Given the description of an element on the screen output the (x, y) to click on. 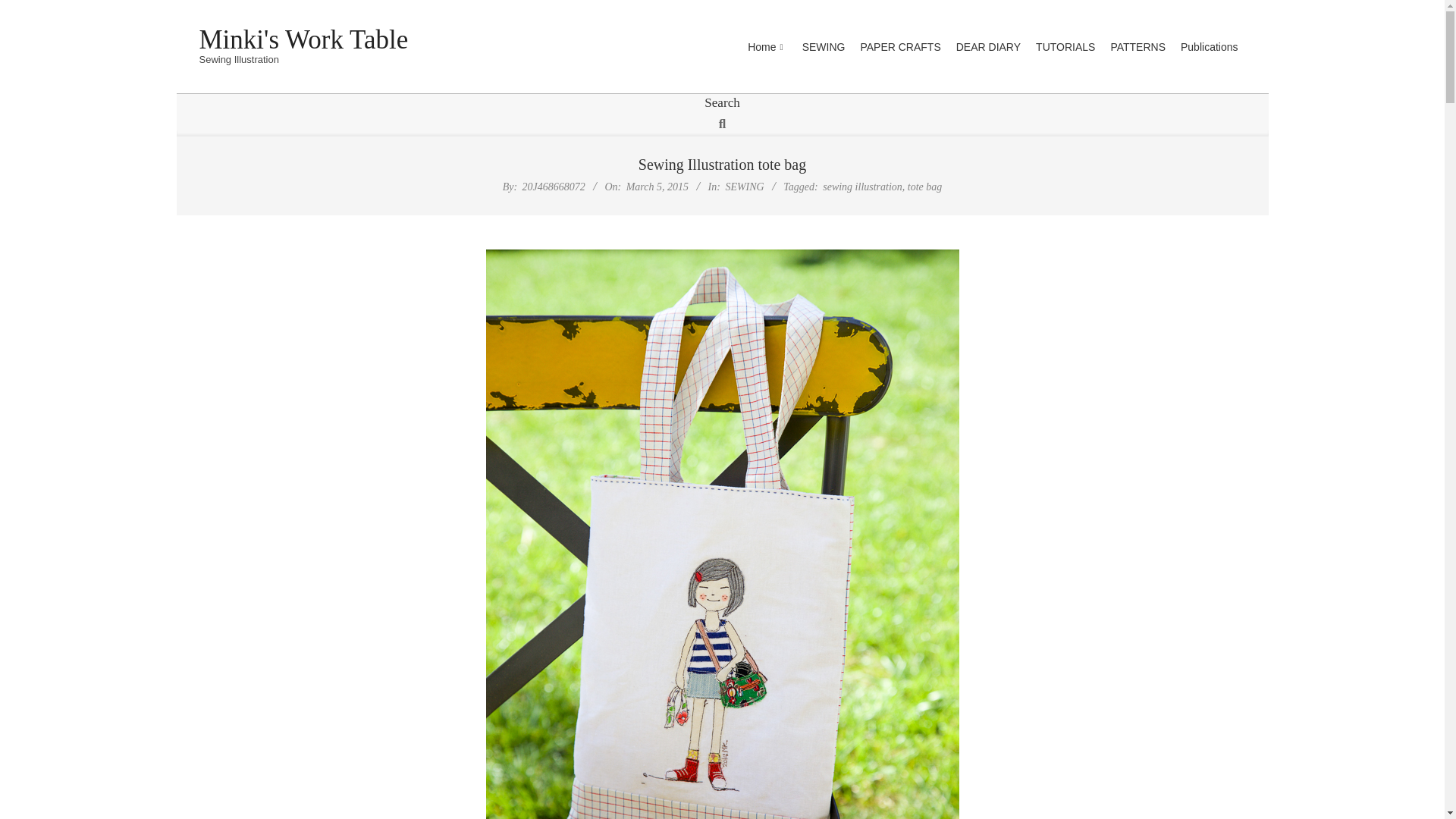
tote bag (924, 186)
TUTORIALS (1064, 47)
SEWING (743, 186)
DEAR DIARY (988, 47)
SEWING (823, 47)
PATTERNS (1137, 47)
Minki's Work Table (302, 39)
sewing illustration (862, 186)
20J468668072 (553, 186)
Publications (1209, 47)
Home (766, 47)
Posts by 20J468668072 (553, 186)
PAPER CRAFTS (899, 47)
Thursday, March 5, 2015, 7:03 pm (657, 186)
Search (23, 9)
